Given the description of an element on the screen output the (x, y) to click on. 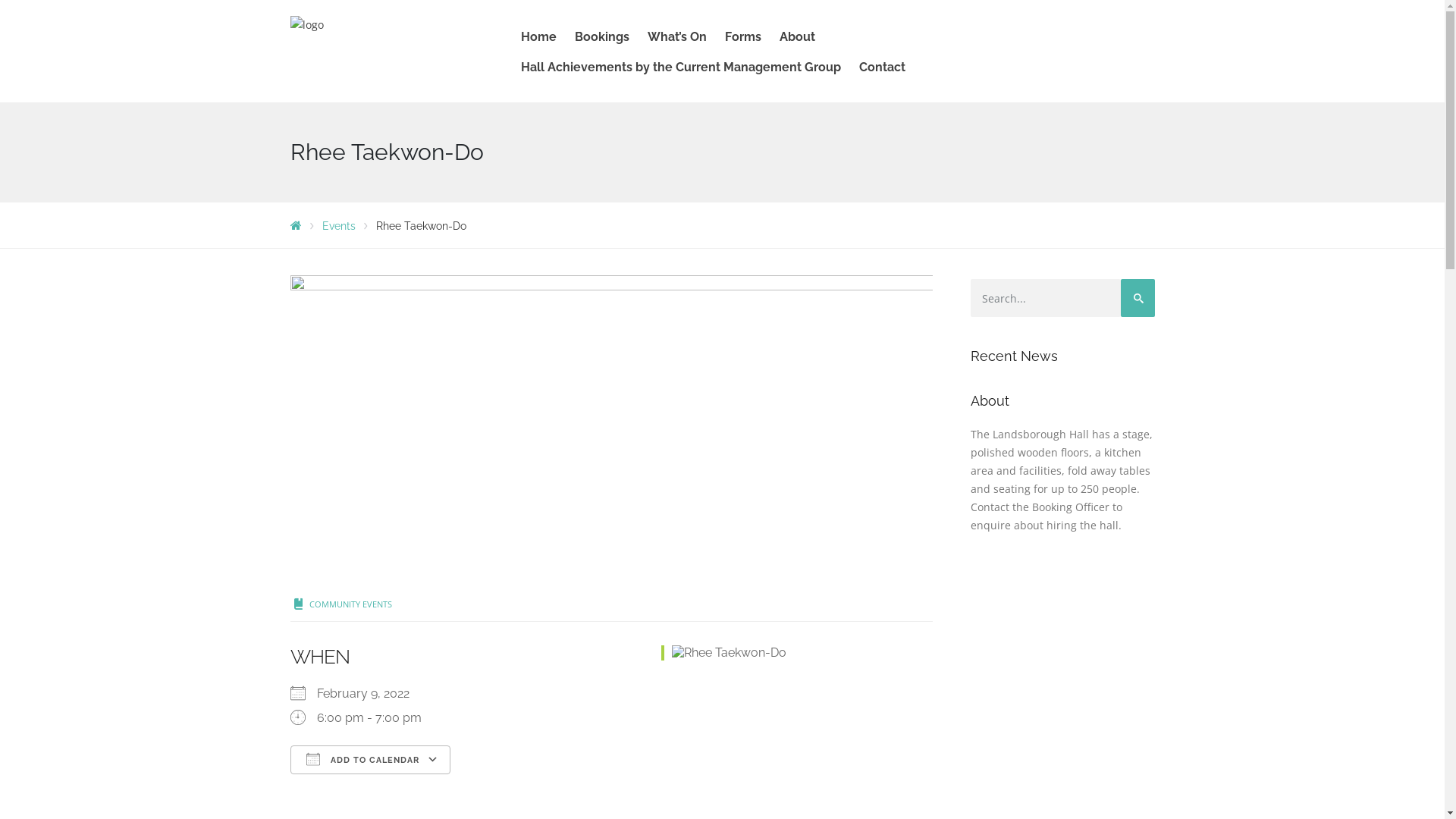
Events Element type: text (337, 225)
About Element type: text (797, 36)
Forms Element type: text (742, 36)
Contact Element type: text (877, 67)
Rhee Taekwon-Do Element type: hover (610, 427)
Download ICS Element type: text (306, 786)
Bookings Element type: text (601, 36)
COMMUNITY EVENTS Element type: text (350, 603)
ADD TO CALENDAR Element type: text (369, 759)
Home Element type: text (538, 36)
Hall Achievements by the Current Management Group Element type: text (680, 67)
